Given the description of an element on the screen output the (x, y) to click on. 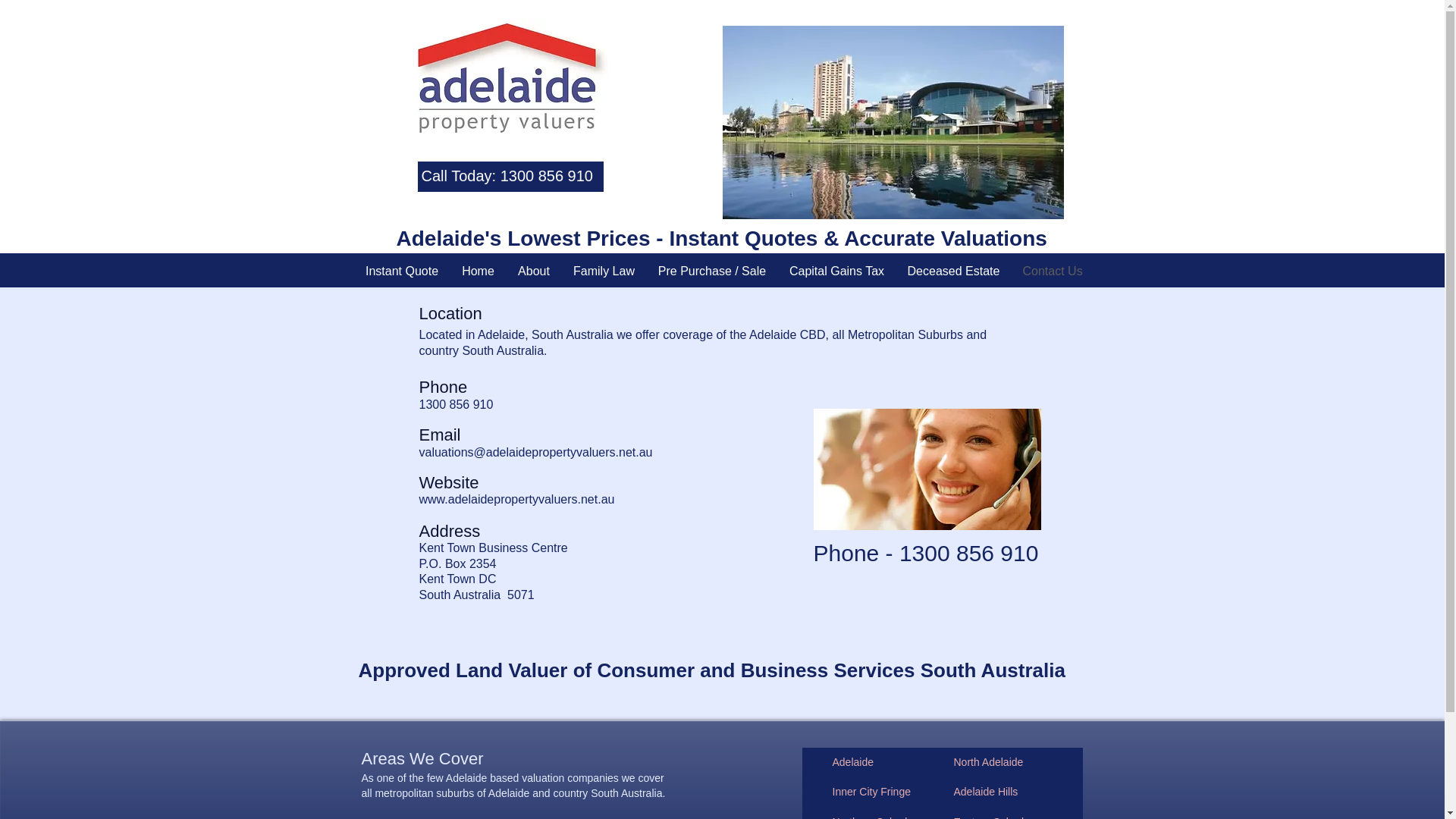
www.adelaidepropertyvaluers.net.au Element type: text (516, 499)
About Element type: text (533, 270)
Embedded Content Element type: hover (697, 592)
Pre Purchase / Sale Element type: text (711, 270)
Contact Us Element type: text (1052, 270)
Family Law Element type: text (603, 270)
Capital Gains Tax Element type: text (837, 270)
Home Element type: text (478, 270)
valuations@adelaidepropertyvaluers.net.au Element type: text (535, 451)
Instant Quote Element type: text (401, 270)
Deceased Estate Element type: text (953, 270)
